Given the description of an element on the screen output the (x, y) to click on. 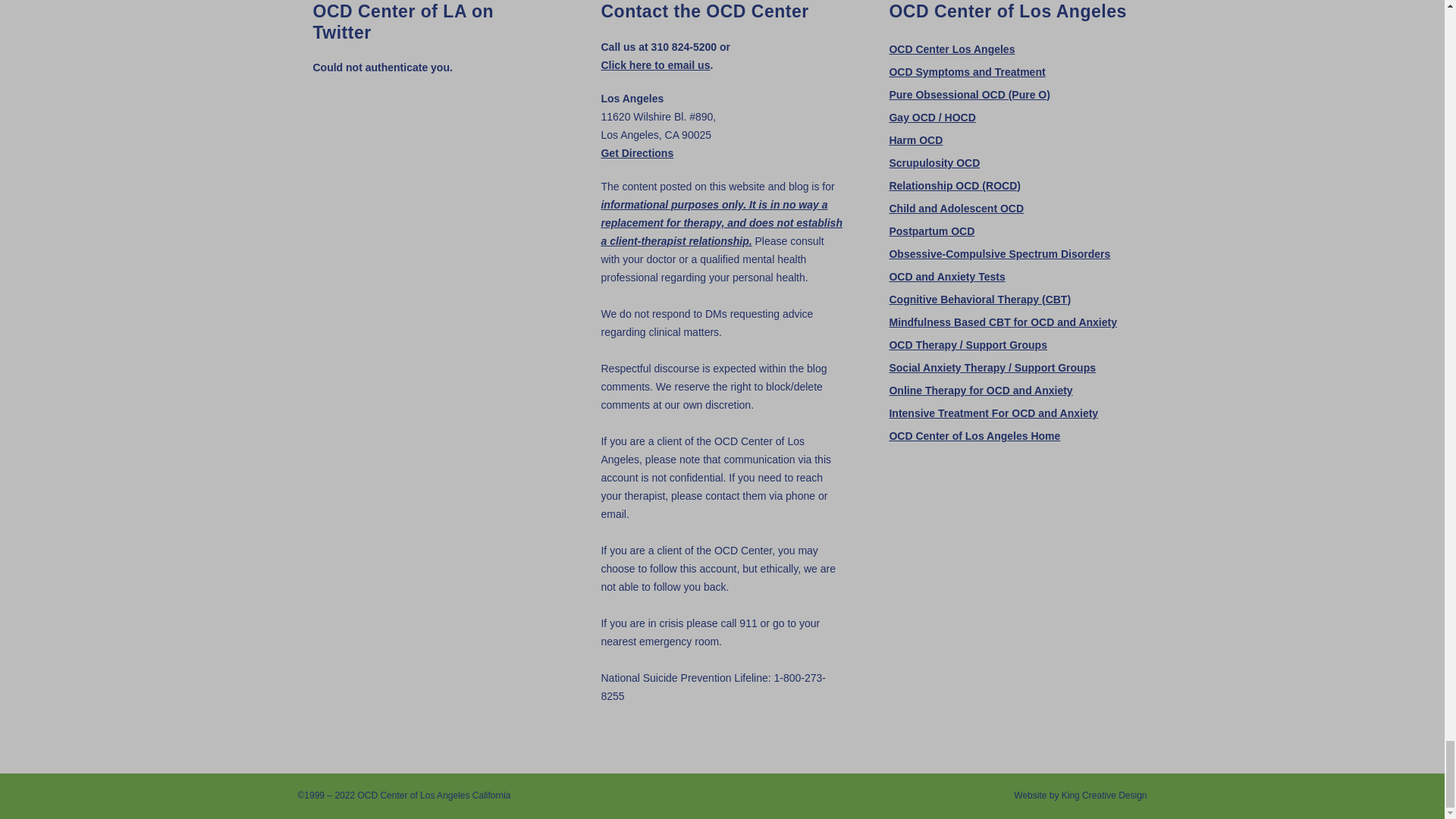
Email the OCD Center of Los Angeles (654, 64)
What is OCD? (966, 71)
OCD Center Los Angeles (951, 49)
